Given the description of an element on the screen output the (x, y) to click on. 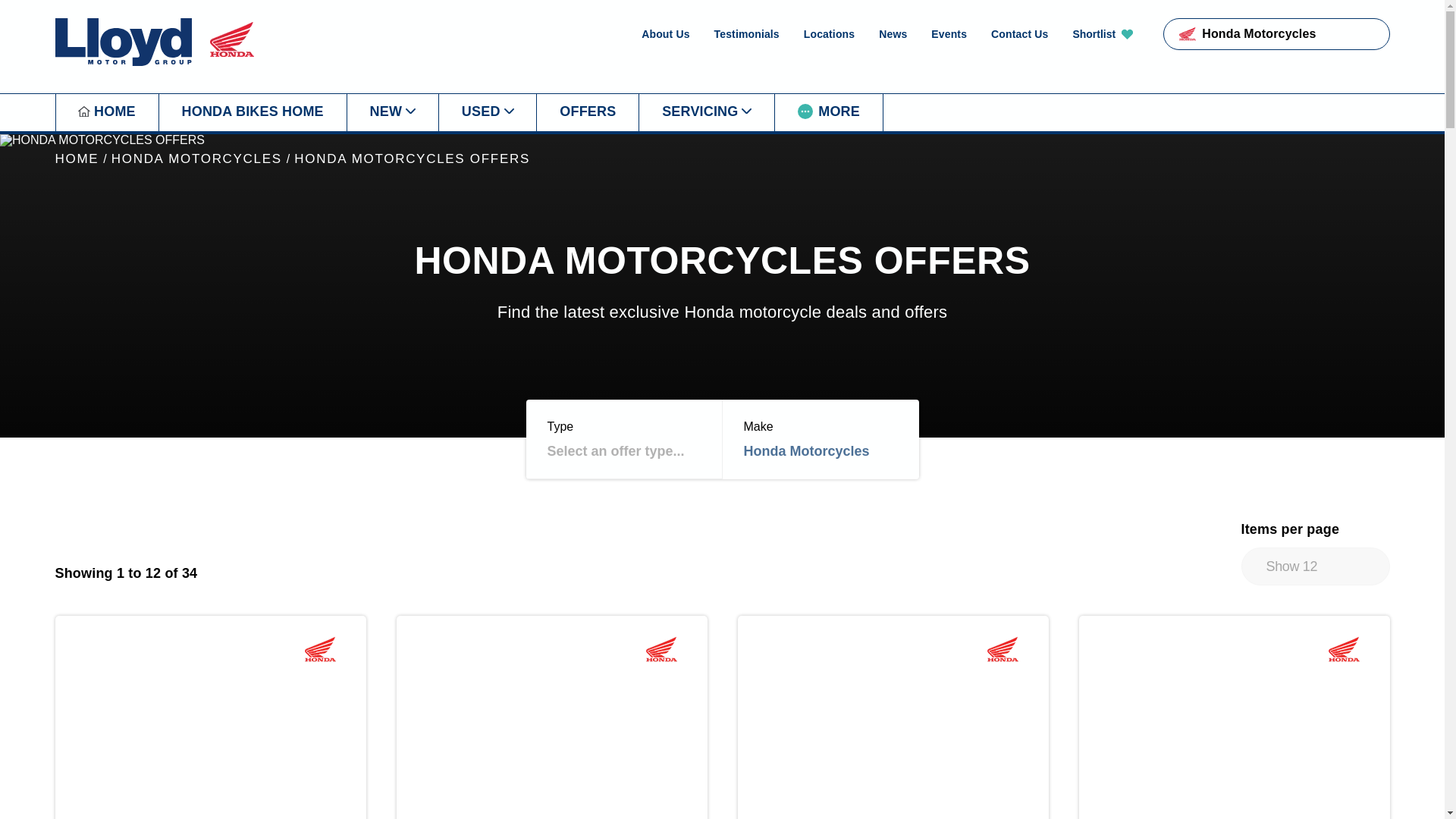
Events (948, 33)
NEW (392, 112)
Contact Us (1019, 33)
HONDA BIKES HOME (252, 112)
Testimonials (746, 33)
HOME (106, 112)
News (893, 33)
USED (486, 112)
SERVICING (706, 112)
About Us (665, 33)
